Given the description of an element on the screen output the (x, y) to click on. 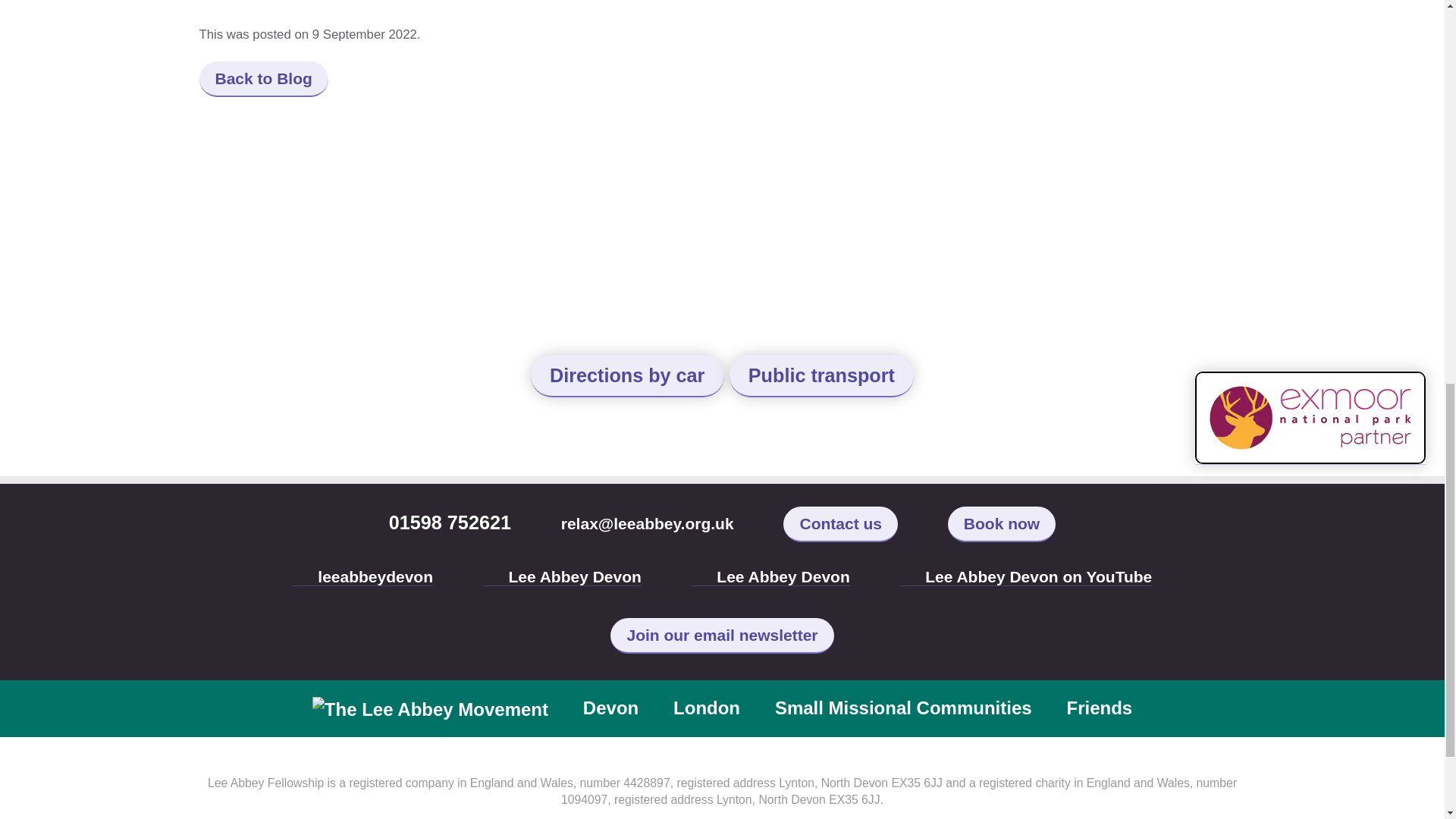
Lee Abbey Devon on Instagram (770, 577)
Go back to the blog (262, 79)
Lee Abbey Devon on Facebook (1026, 577)
Lee Abbey Devon on Twitter (362, 577)
Lee Abbey Devon on Facebook (562, 577)
